Given the description of an element on the screen output the (x, y) to click on. 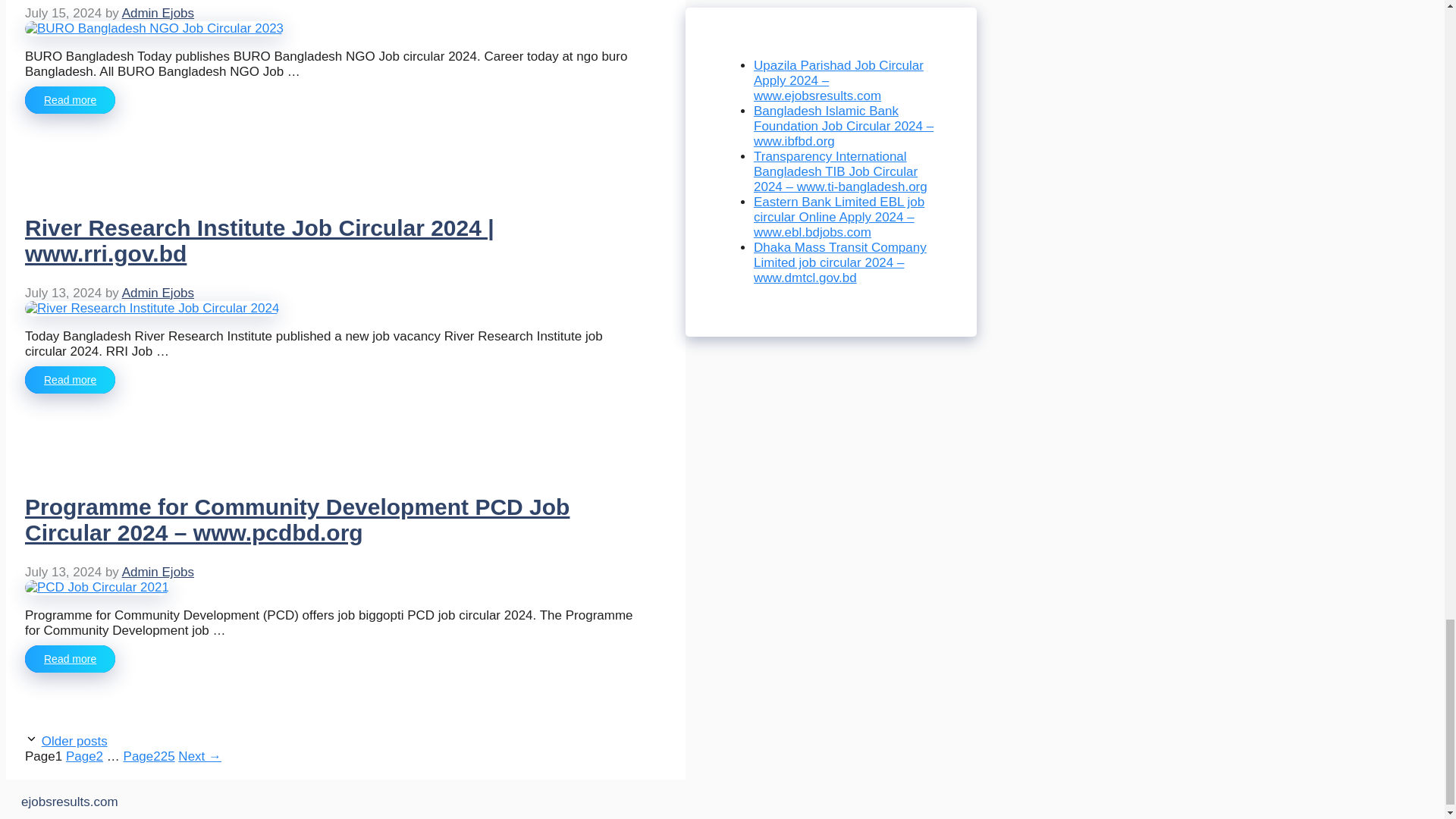
View all posts by Admin Ejobs (157, 12)
View all posts by Admin Ejobs (157, 292)
